Given the description of an element on the screen output the (x, y) to click on. 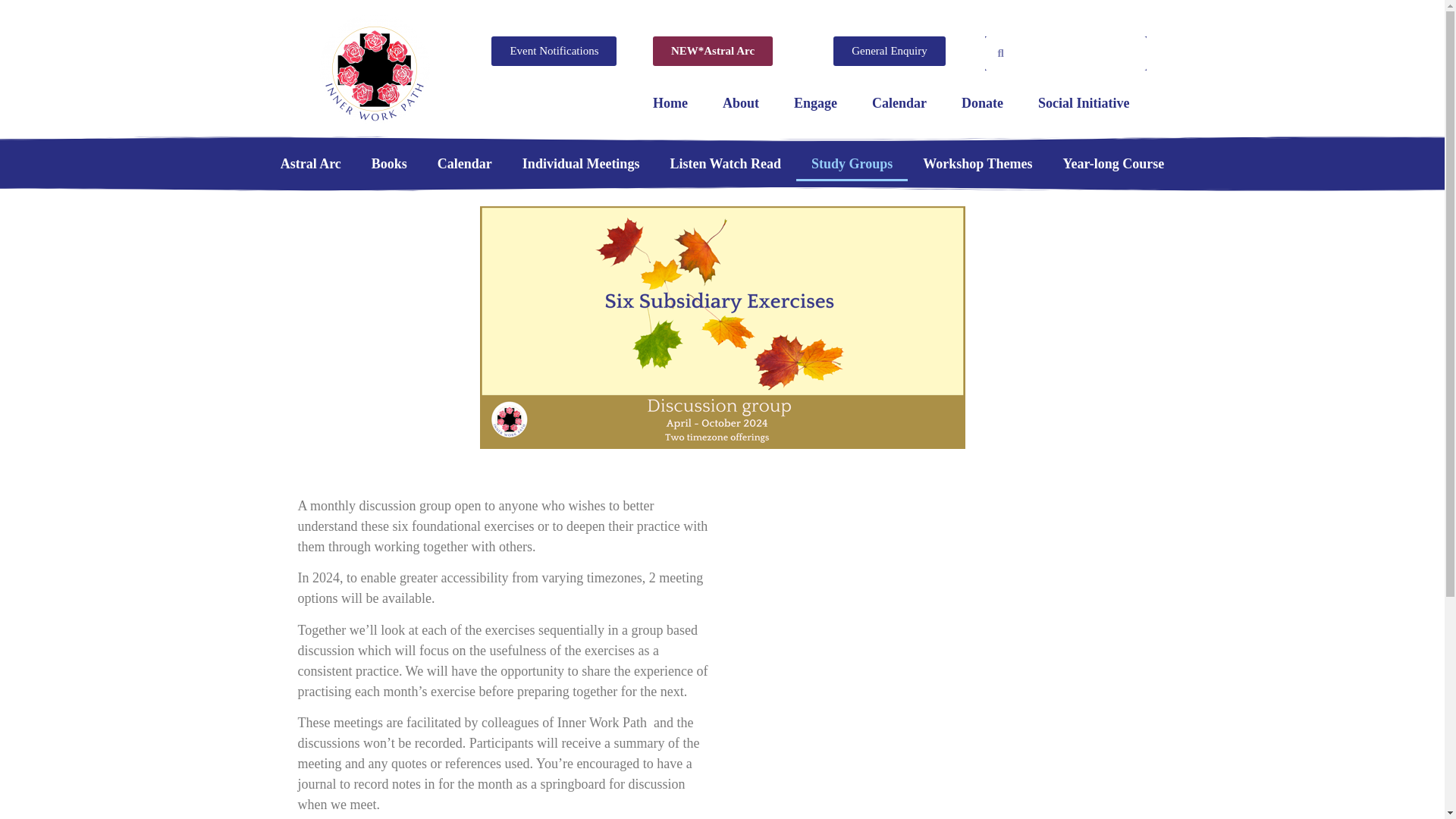
Engage (815, 102)
General Enquiry (888, 51)
About (740, 102)
Calendar (464, 163)
Listen Watch Read (724, 163)
Year-long Course (1113, 163)
Social Initiative (1083, 102)
Workshop Themes (976, 163)
Individual Meetings (580, 163)
Donate (981, 102)
